Given the description of an element on the screen output the (x, y) to click on. 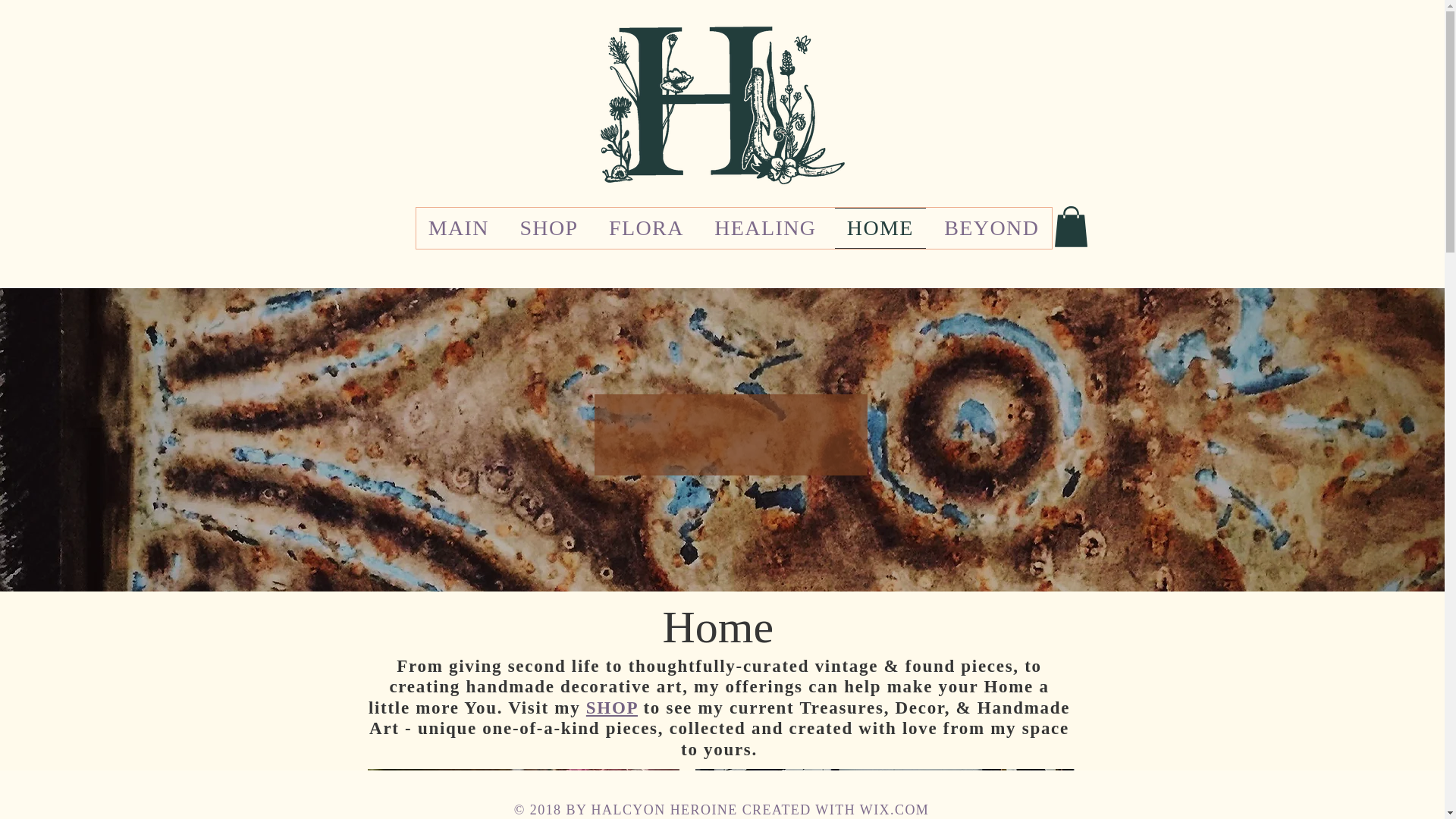
BEYOND (991, 228)
SHOP (611, 707)
SHOP (548, 228)
FLORA (645, 228)
WITH WIX.COM (871, 809)
HEALING (764, 228)
MAIN (457, 228)
HOME (880, 228)
